Given the description of an element on the screen output the (x, y) to click on. 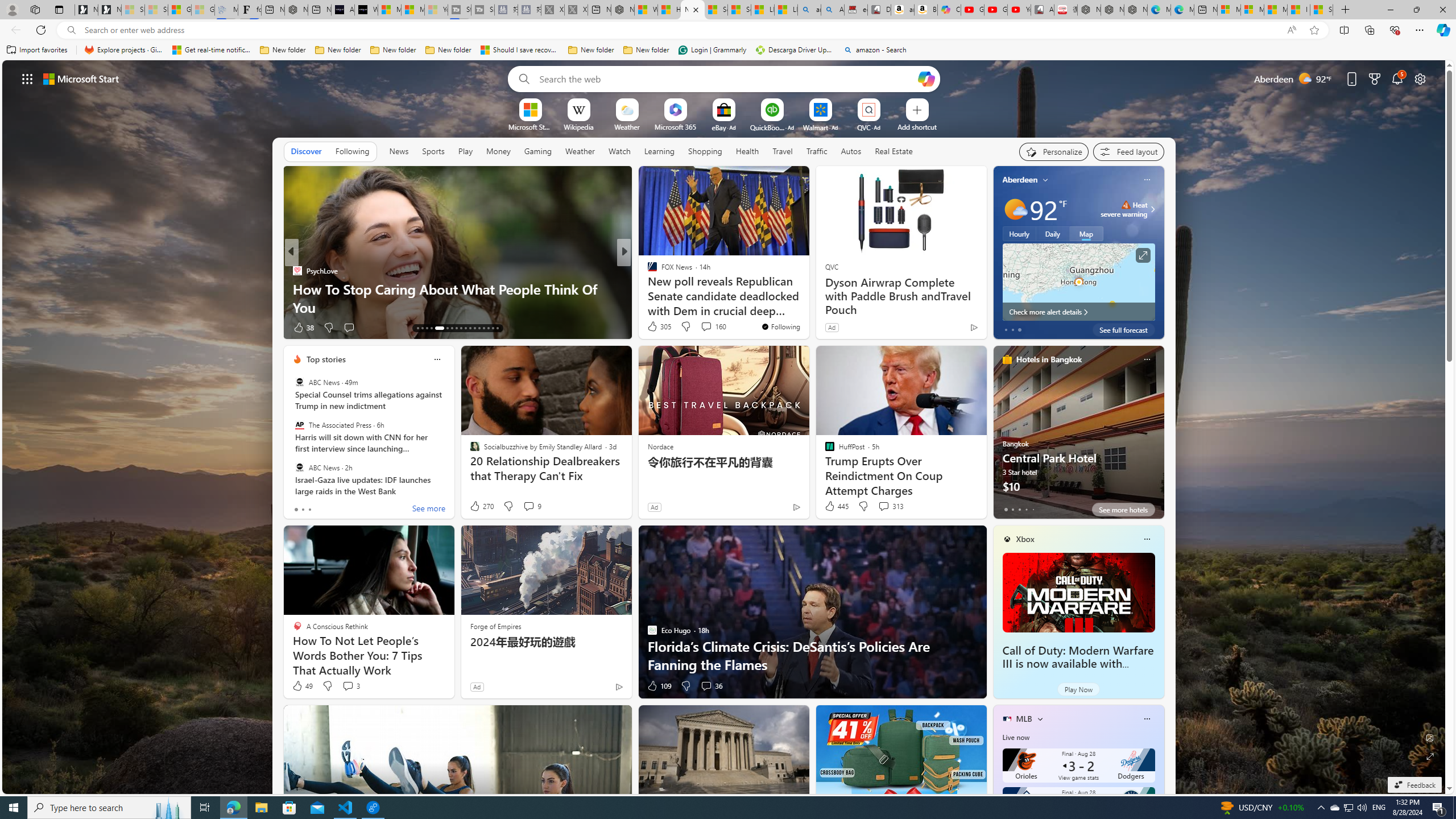
View comments 1k Comment (698, 327)
Should I save recovered Word documents? - Microsoft Support (519, 49)
My location (1045, 179)
Page settings (1420, 78)
QVC (831, 266)
AutomationID: backgroundImagePicture (723, 426)
AutomationID: tab-21 (460, 328)
